Given the description of an element on the screen output the (x, y) to click on. 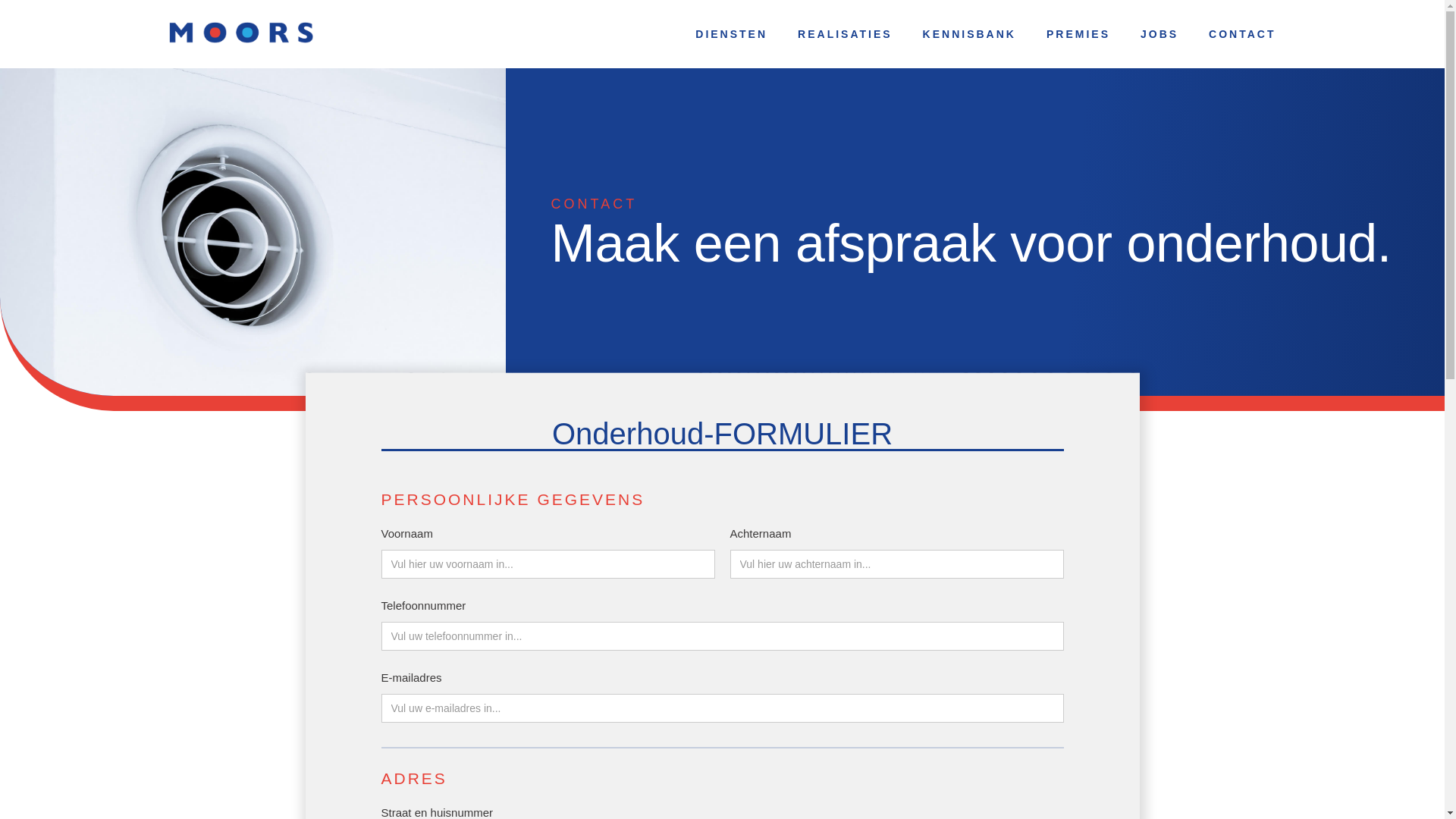
REALISATIES Element type: text (844, 33)
DIENSTEN Element type: text (731, 33)
KENNISBANK Element type: text (969, 33)
PREMIES Element type: text (1078, 33)
JOBS Element type: text (1159, 33)
CONTACT Element type: text (1241, 33)
